Given the description of an element on the screen output the (x, y) to click on. 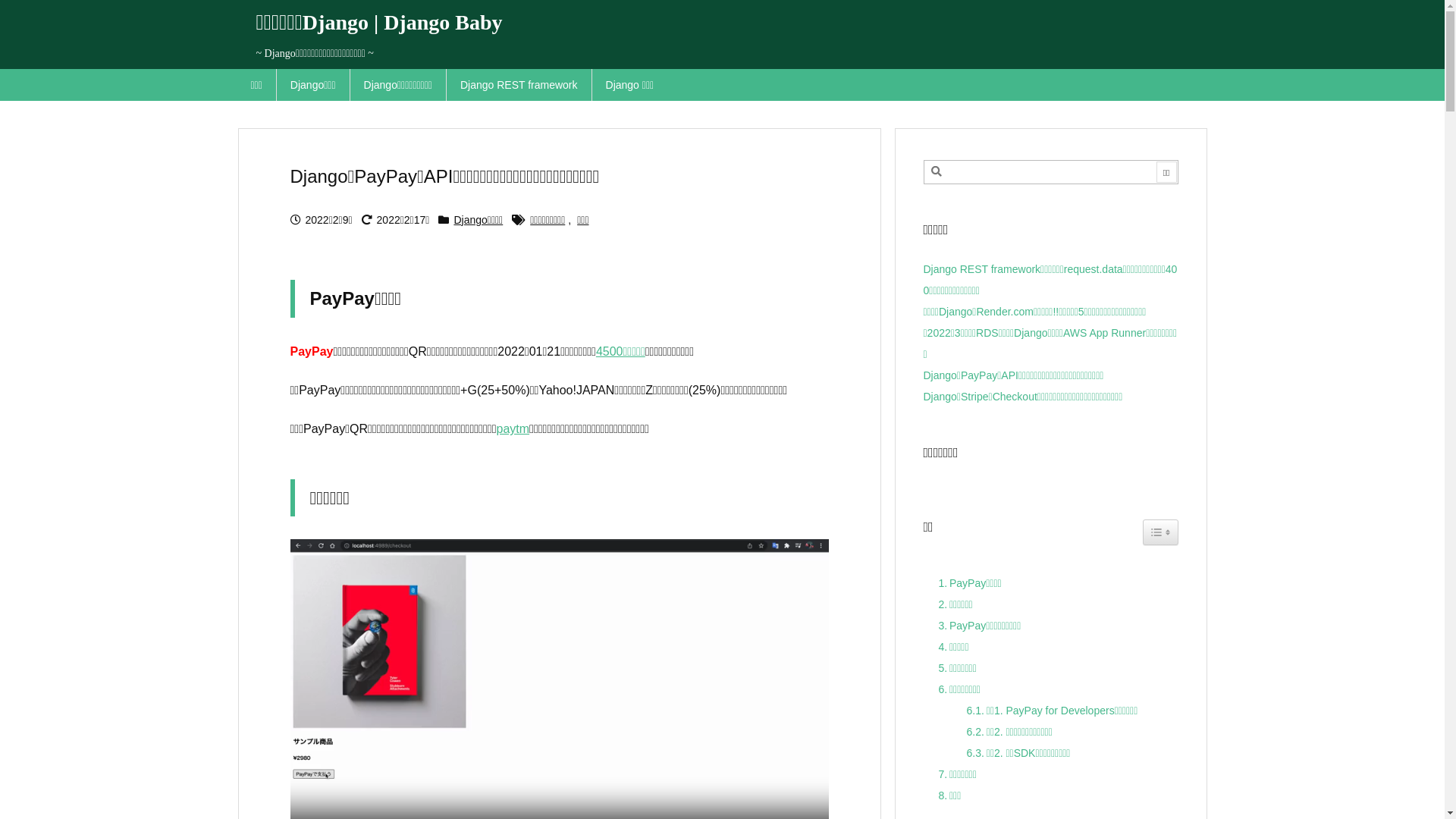
Django REST framework Element type: text (518, 84)
paytm Element type: text (512, 428)
